Given the description of an element on the screen output the (x, y) to click on. 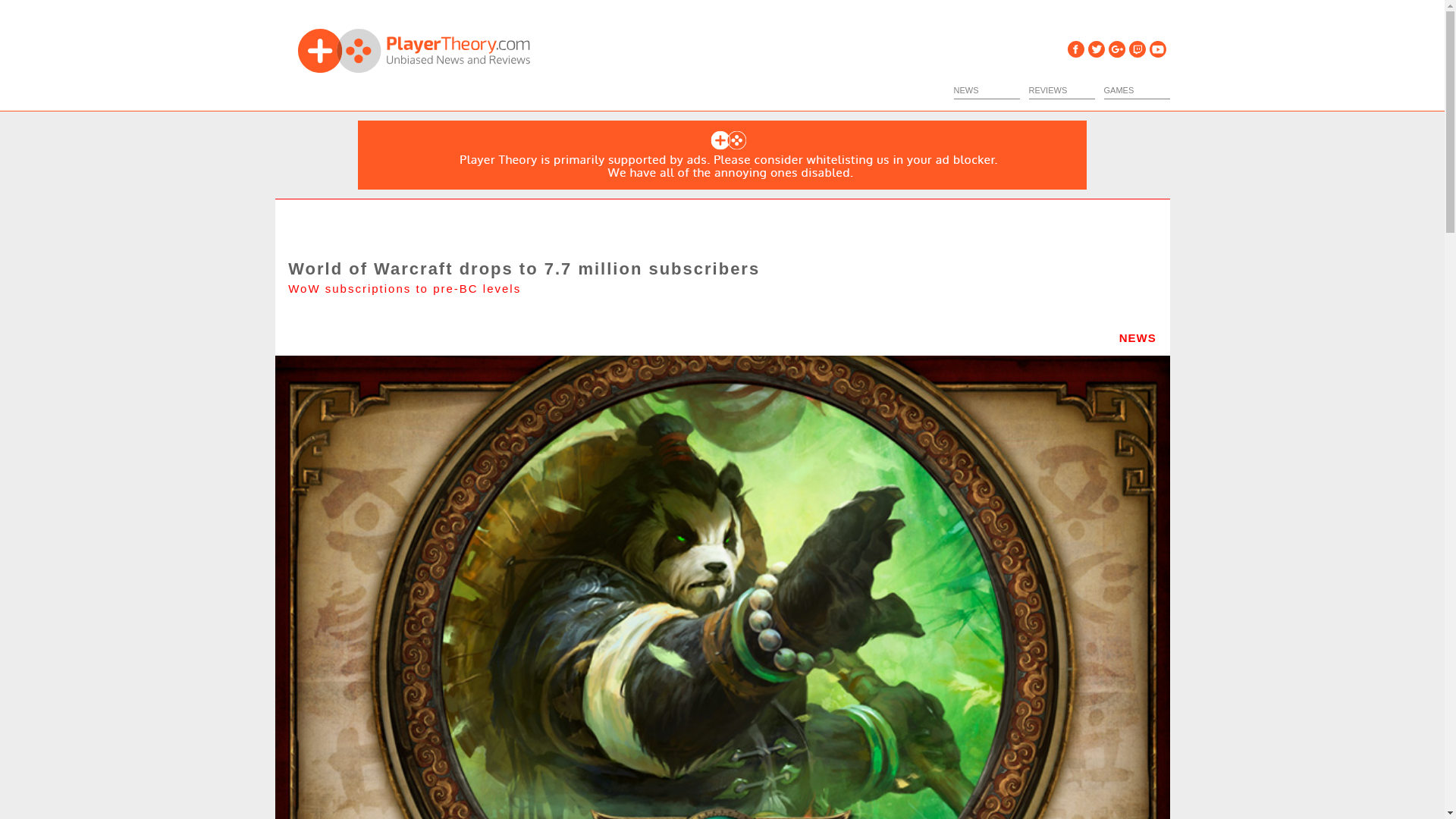
GAMES (1136, 90)
REVIEWS (1060, 90)
NEWS (986, 90)
Advertisement (722, 154)
